Given the description of an element on the screen output the (x, y) to click on. 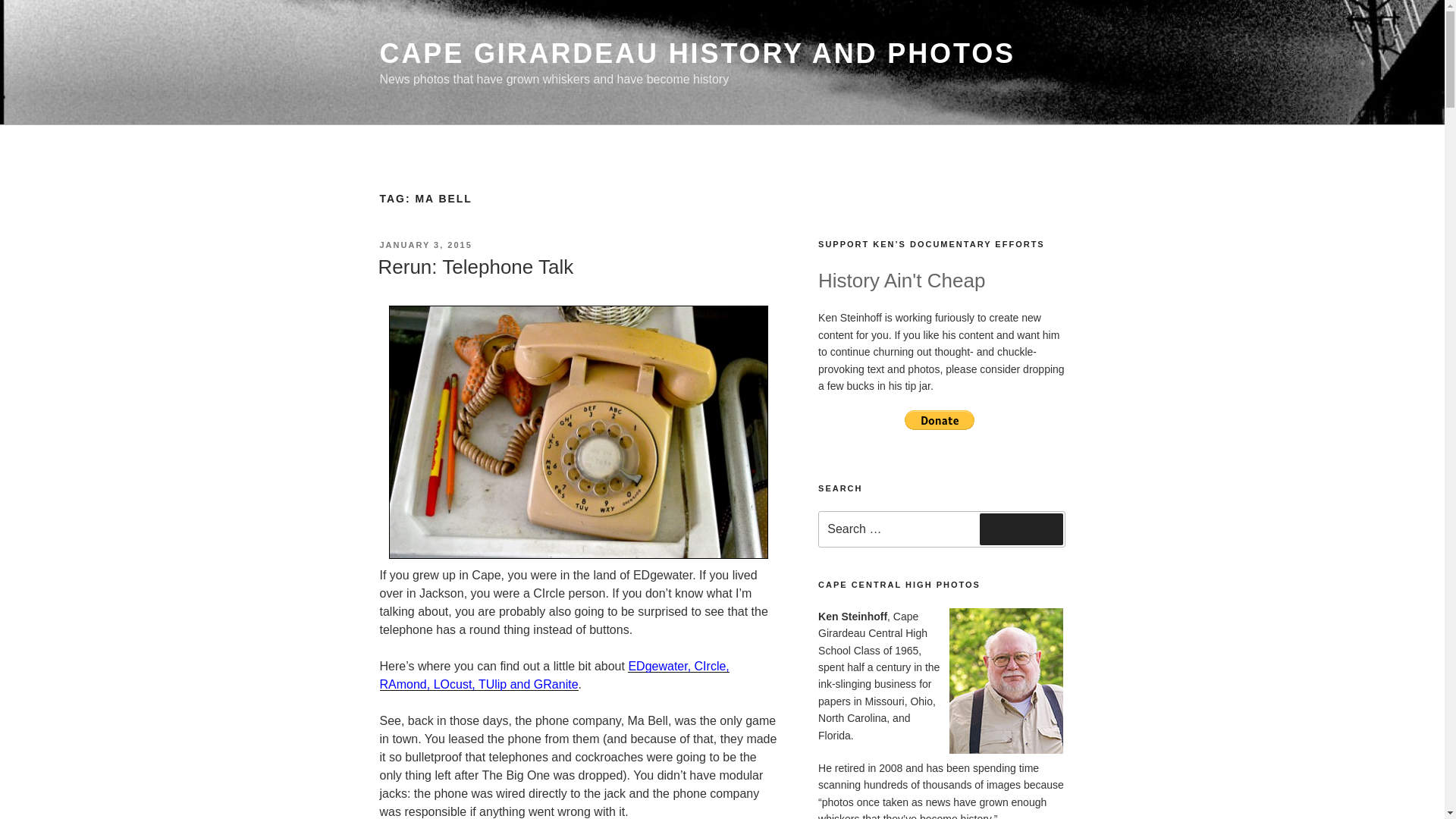
Rerun: Telephone Talk (475, 266)
JANUARY 3, 2015 (424, 244)
EDgewater, CIrcle, RAmond, LOcust, TUlip and GRanite (553, 675)
Search (1020, 529)
Telephone exchanges in SE MO (553, 675)
CAPE GIRARDEAU HISTORY AND PHOTOS (696, 52)
